Given the description of an element on the screen output the (x, y) to click on. 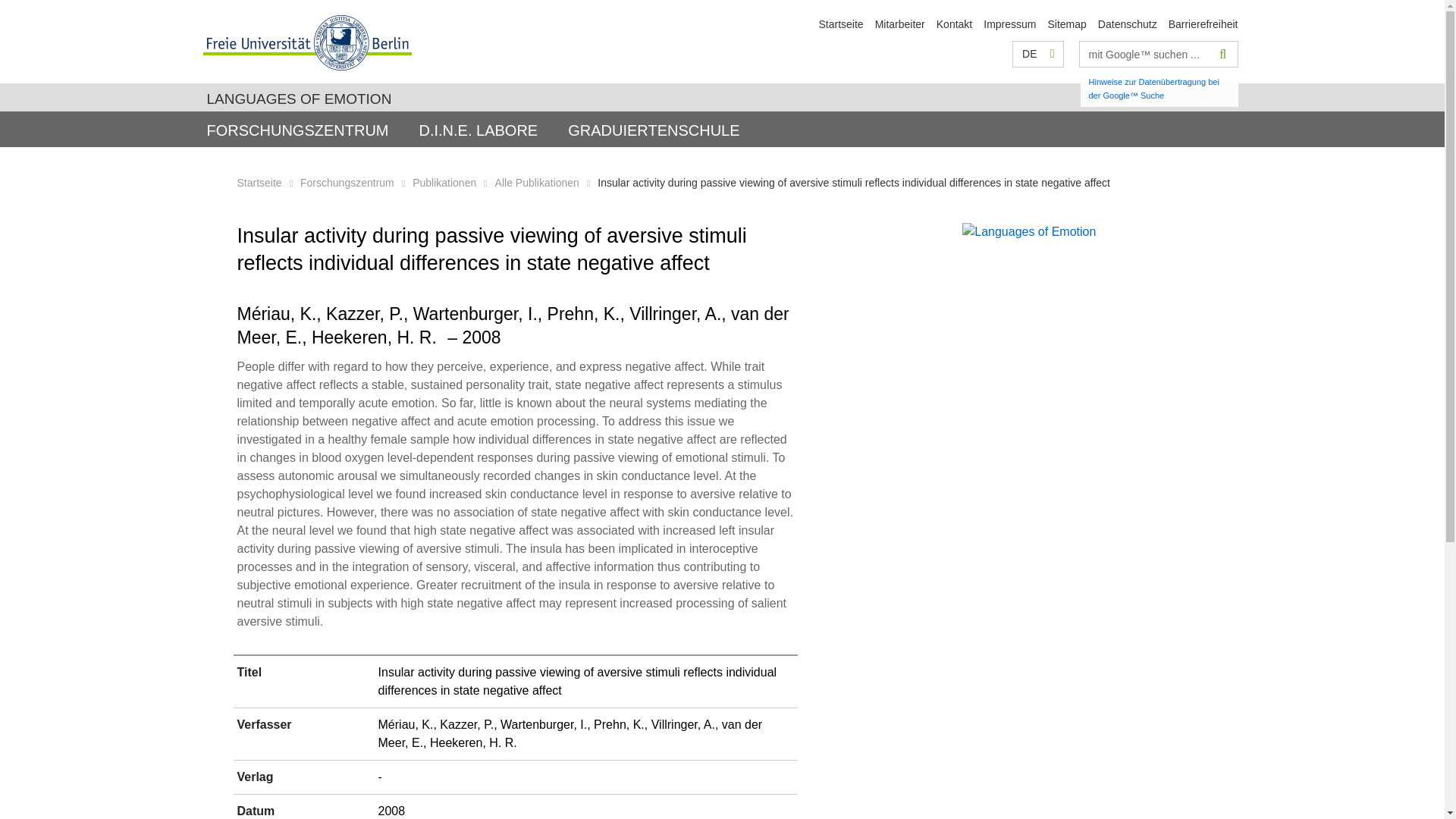
Zur Startseite von: Languages of Emotion (840, 24)
Startseite (258, 182)
Impressum (1009, 24)
Startseite (840, 24)
Mitarbeiter (899, 24)
FORSCHUNGSZENTRUM (296, 129)
Sitemap (1066, 24)
Datenschutz (1127, 24)
Suchbegriff bitte hier eingeben (1144, 53)
Publikationen (444, 182)
loading... (296, 129)
Alle Publikationen (537, 182)
GRADUIERTENSCHULE (653, 129)
loading... (653, 129)
loading... (478, 129)
